Given the description of an element on the screen output the (x, y) to click on. 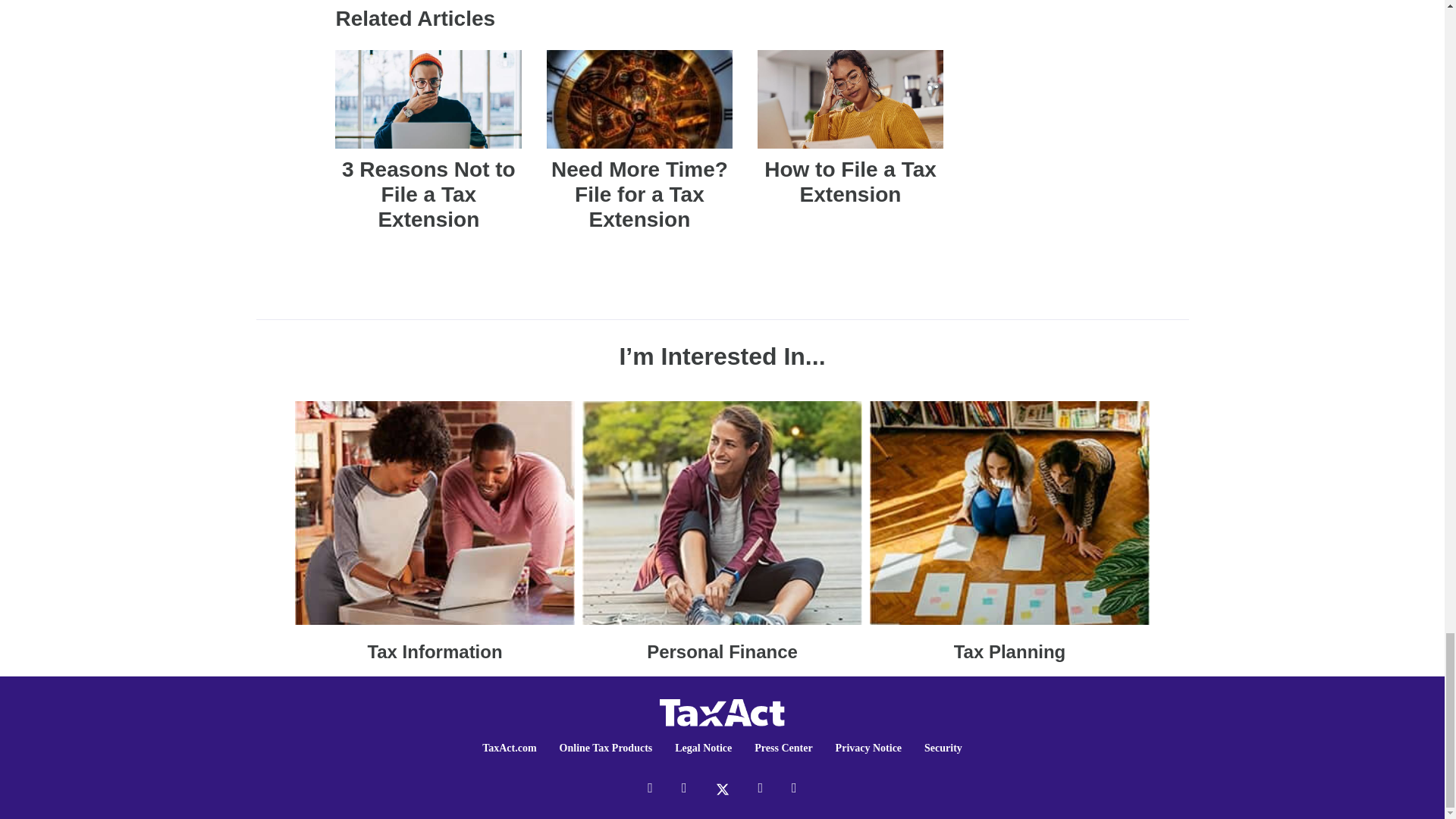
Tax Information (435, 530)
TaxAct Blog (721, 711)
Personal Finance (721, 530)
Impact of COVID-19 on Taxes (1009, 530)
TaxAct on Twitter (722, 787)
